Given the description of an element on the screen output the (x, y) to click on. 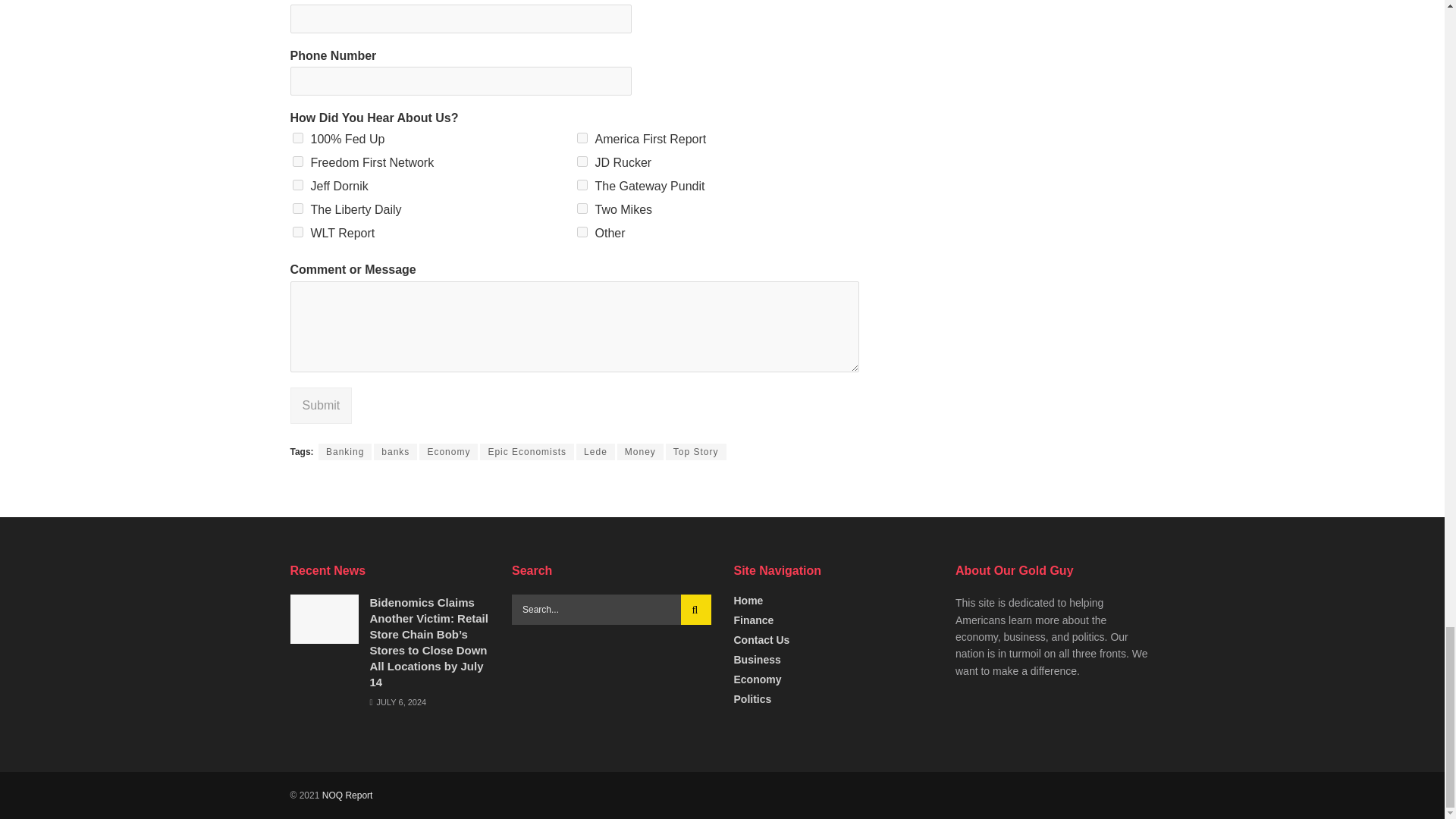
Money (640, 451)
Top Story (695, 451)
America First Report (581, 137)
NOQ Report (346, 795)
Economy (448, 451)
Two Mikes (581, 208)
JD Rucker (581, 161)
Epic Economists (526, 451)
Submit (320, 405)
Lede (595, 451)
Banking (344, 451)
The Gateway Pundit (581, 184)
Other (581, 231)
Jeff Dornik (297, 184)
WLT Report (297, 231)
